Given the description of an element on the screen output the (x, y) to click on. 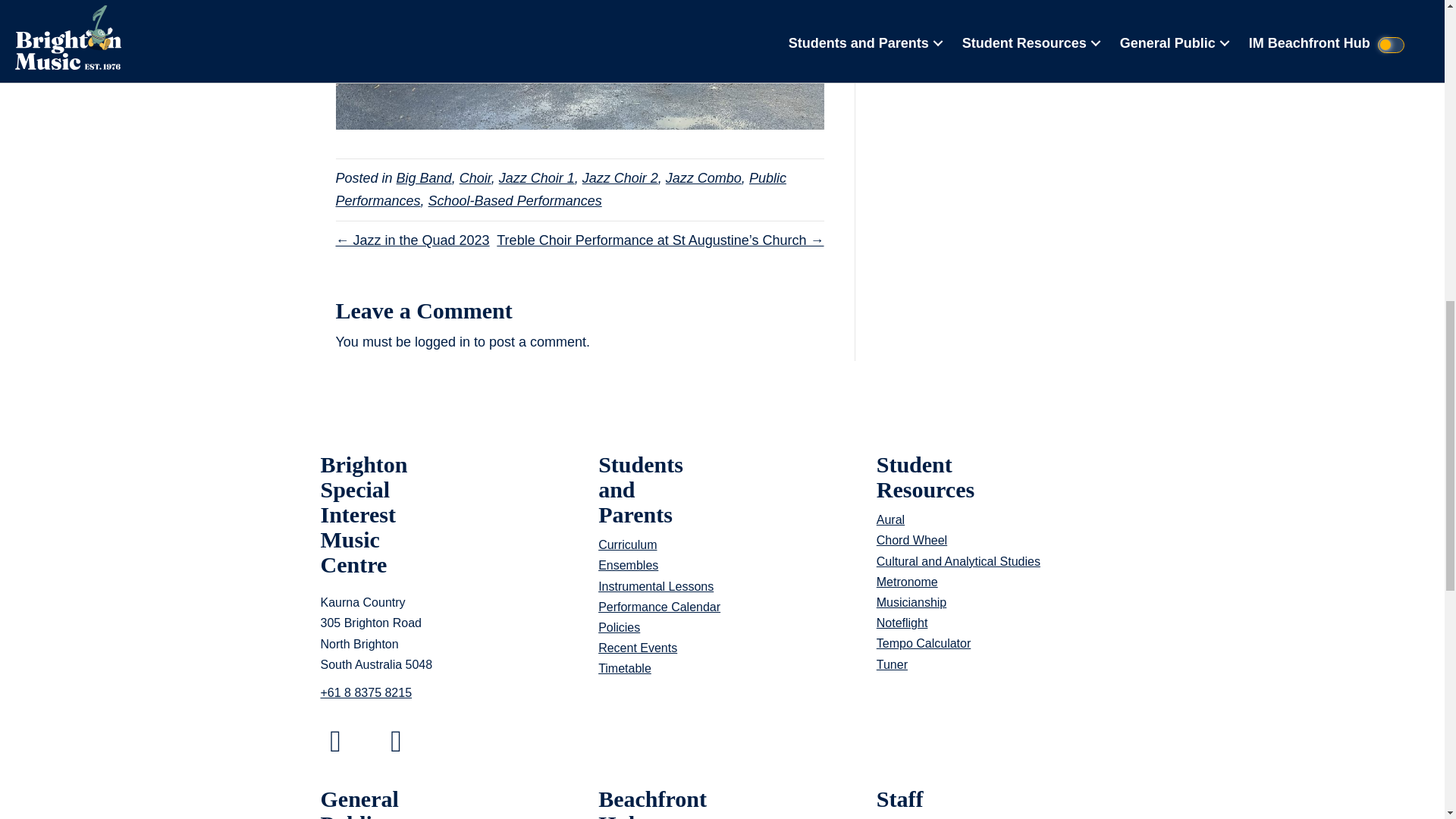
YouTube (395, 740)
Facebook (335, 740)
School-Based Performances (515, 200)
Jazz Choir 2 (620, 177)
Jazz Combo (703, 177)
Public Performances (560, 189)
Big Band (423, 177)
Jazz Choir 1 (537, 177)
Choir (476, 177)
